Given the description of an element on the screen output the (x, y) to click on. 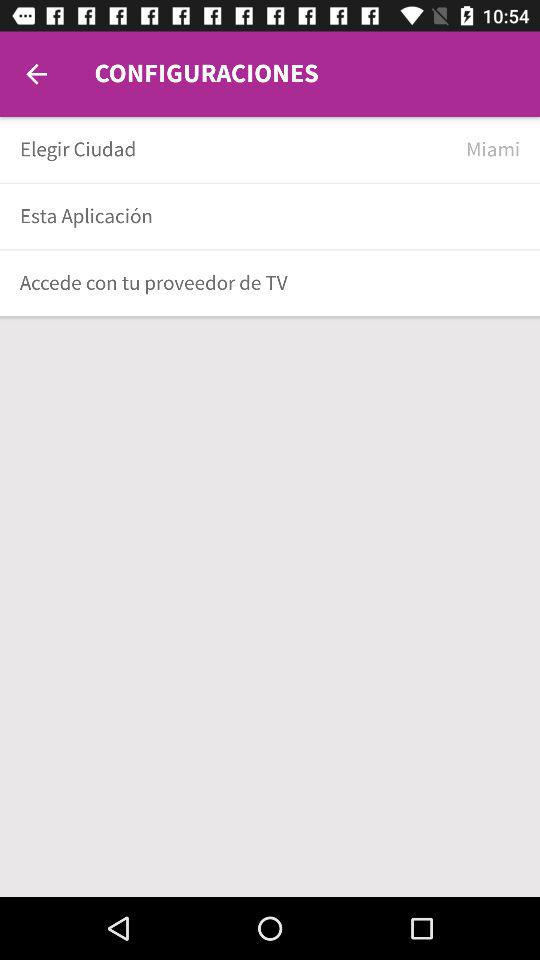
open item to the right of elegir ciudad (493, 149)
